Given the description of an element on the screen output the (x, y) to click on. 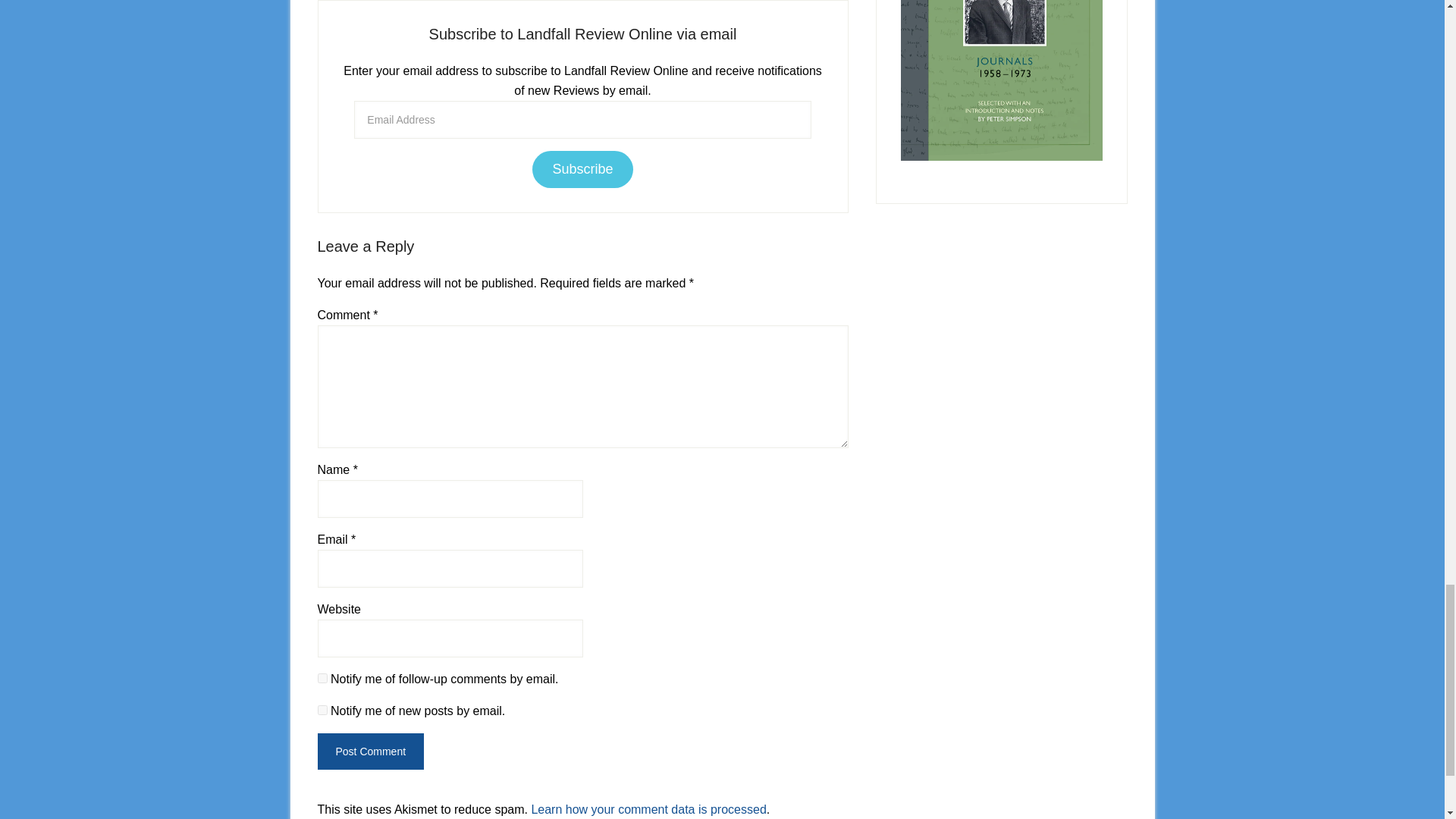
subscribe (321, 709)
Charles Brasch Journals (1001, 79)
Learn how your comment data is processed (648, 809)
subscribe (321, 678)
Post Comment (370, 751)
Post Comment (370, 751)
Subscribe (581, 169)
